Given the description of an element on the screen output the (x, y) to click on. 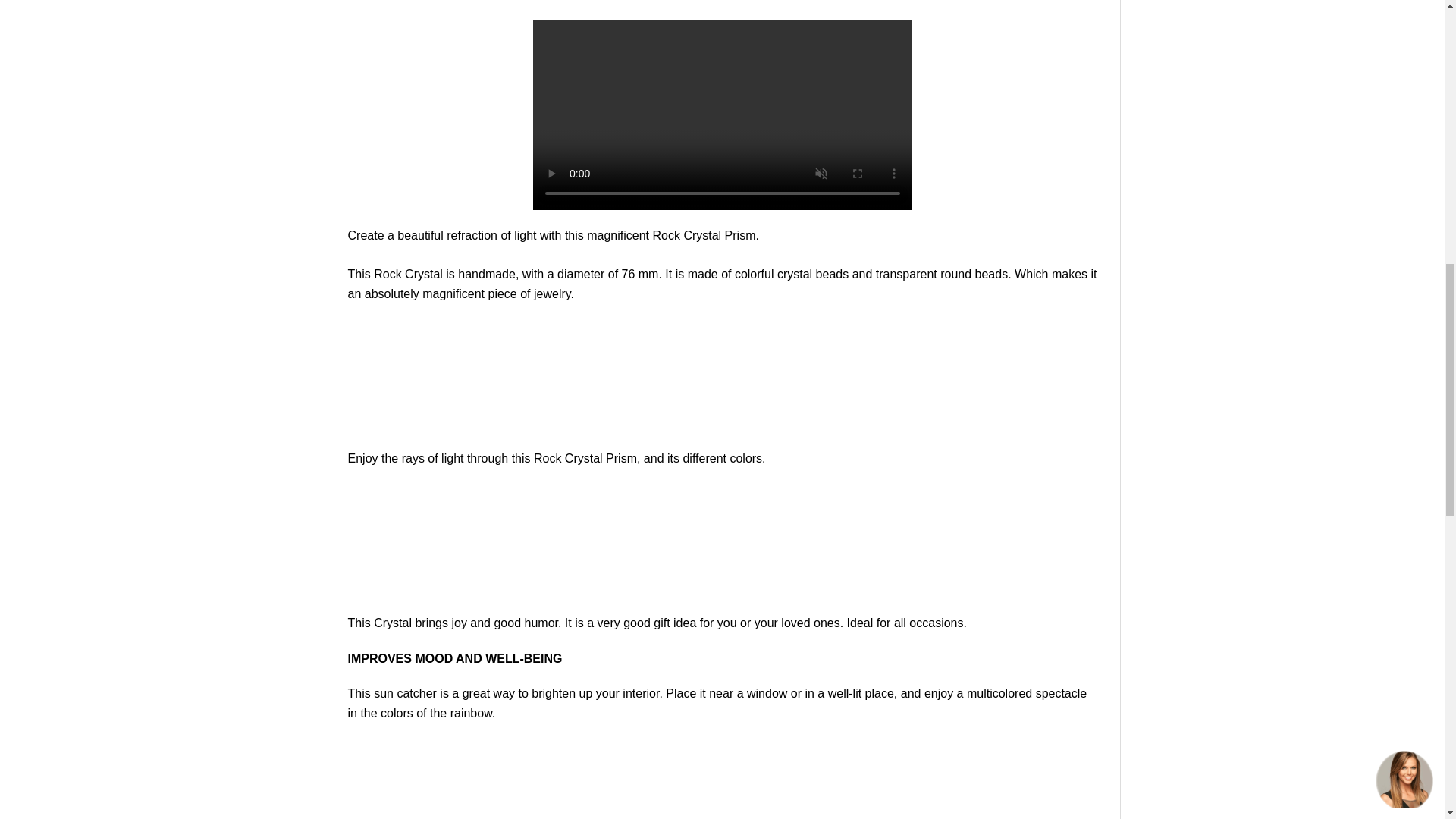
Rainbow rock crystal prism 13 (721, 540)
Rainbow rock crystal prism 14 (721, 778)
Rainbow rock crystal prism 12 (721, 376)
